Given the description of an element on the screen output the (x, y) to click on. 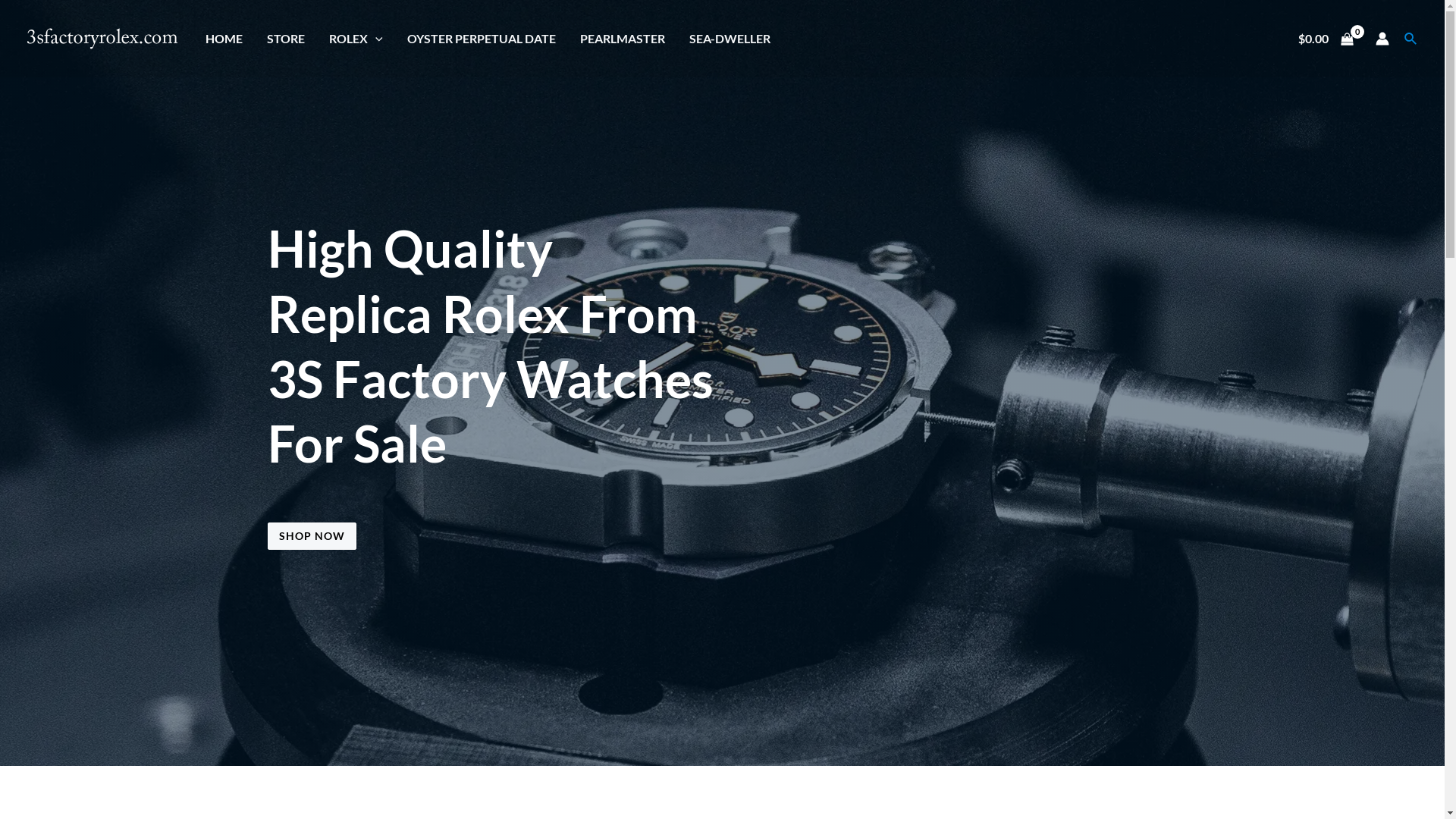
STORE Element type: text (285, 38)
OYSTER PERPETUAL DATE Element type: text (481, 38)
$0.00 Element type: text (1326, 38)
SEA-DWELLER Element type: text (729, 38)
SHOP NOW Element type: text (310, 535)
ROLEX Element type: text (355, 38)
Search Element type: text (1411, 37)
PEARLMASTER Element type: text (622, 38)
HOME Element type: text (223, 38)
